Given the description of an element on the screen output the (x, y) to click on. 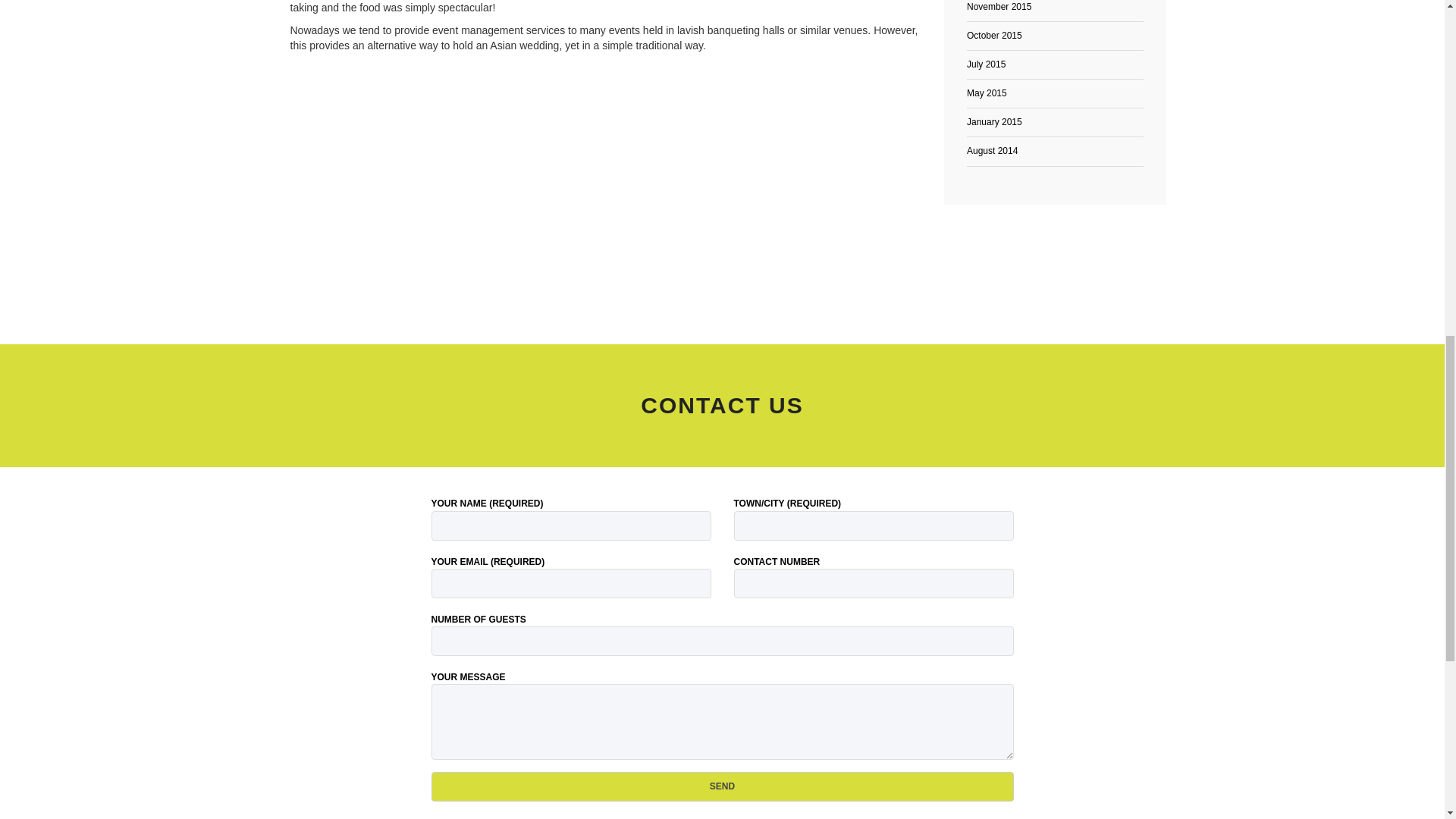
January 2015 (994, 122)
Send (721, 786)
May 2015 (986, 92)
July 2015 (986, 63)
November 2015 (998, 6)
Send (721, 786)
October 2015 (994, 35)
August 2014 (991, 150)
